Given the description of an element on the screen output the (x, y) to click on. 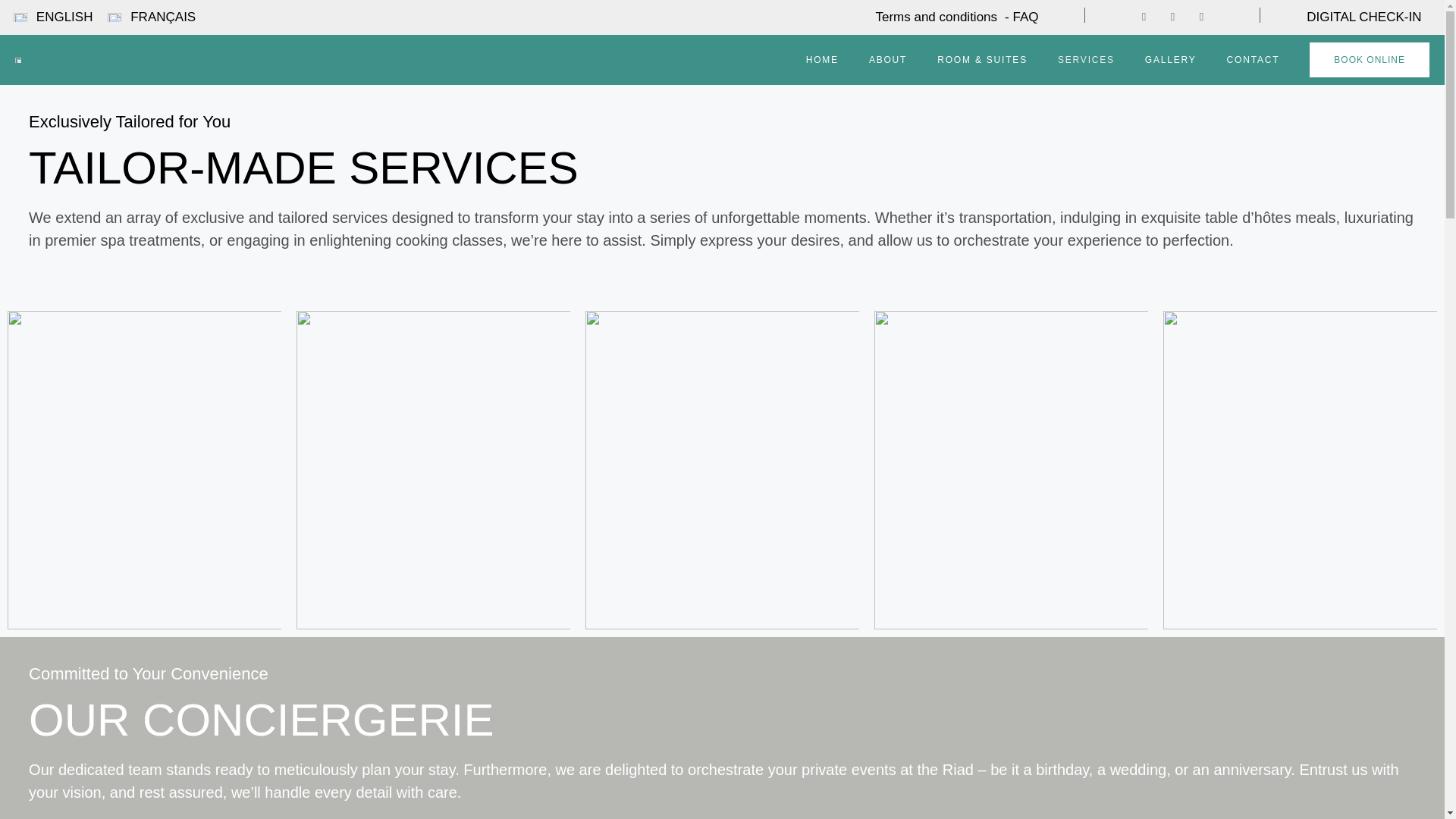
CONTACT (1253, 58)
GALLERY (1170, 58)
- FAQ (1021, 17)
ENGLISH (52, 16)
HOME (821, 58)
SERVICES (1085, 58)
DIGITAL CHECK-IN (1363, 17)
BOOK ONLINE (1368, 59)
Terms and conditions (936, 17)
ABOUT (887, 58)
